Given the description of an element on the screen output the (x, y) to click on. 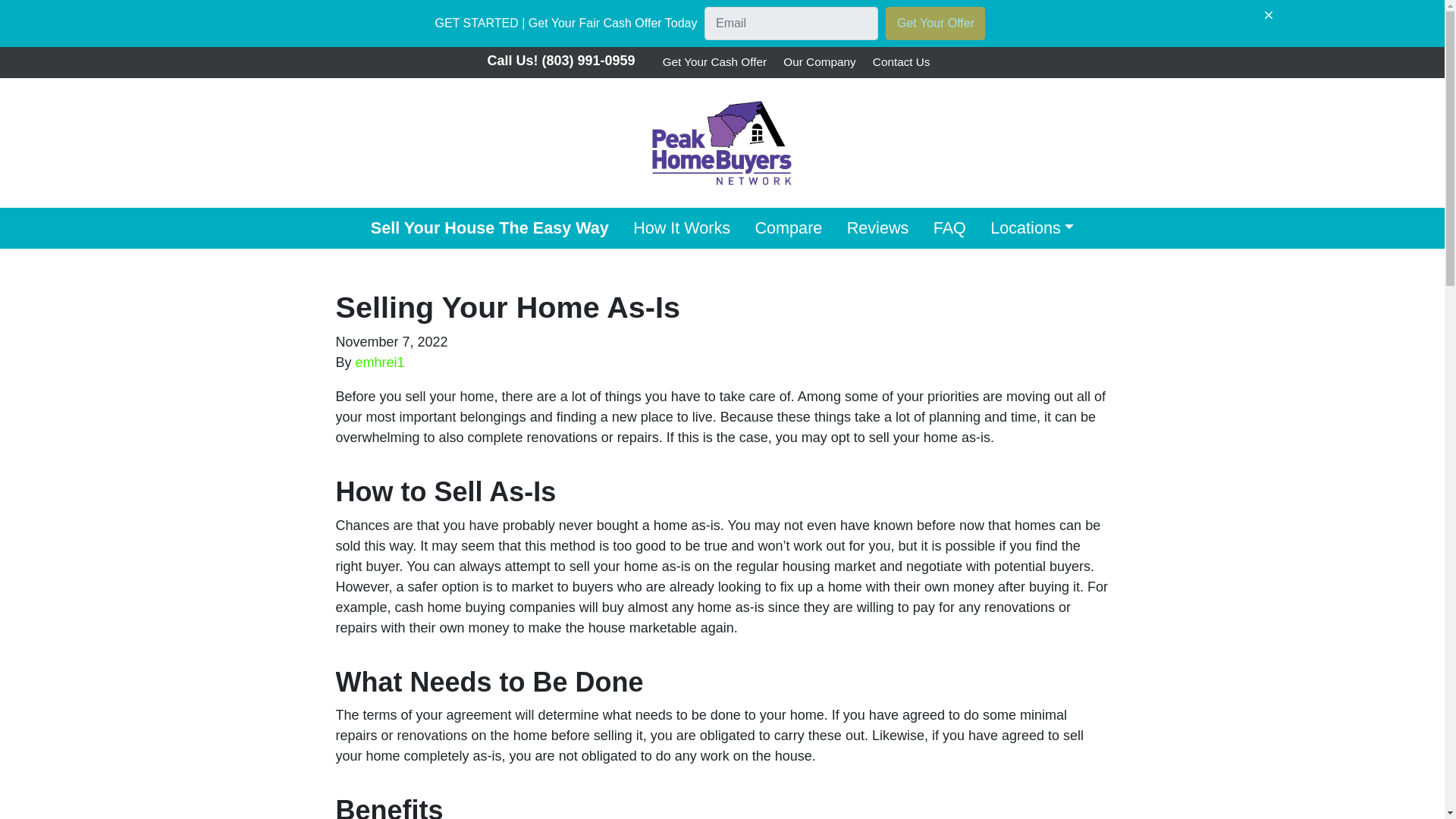
Compare (788, 228)
Get Your Offer (935, 23)
Compare (788, 228)
emhrei1 (379, 362)
Sell Your House The Easy Way (489, 228)
FAQ (949, 228)
Our Company (818, 61)
Get Your Offer (935, 23)
FAQ (949, 228)
How It Works (681, 228)
